Given the description of an element on the screen output the (x, y) to click on. 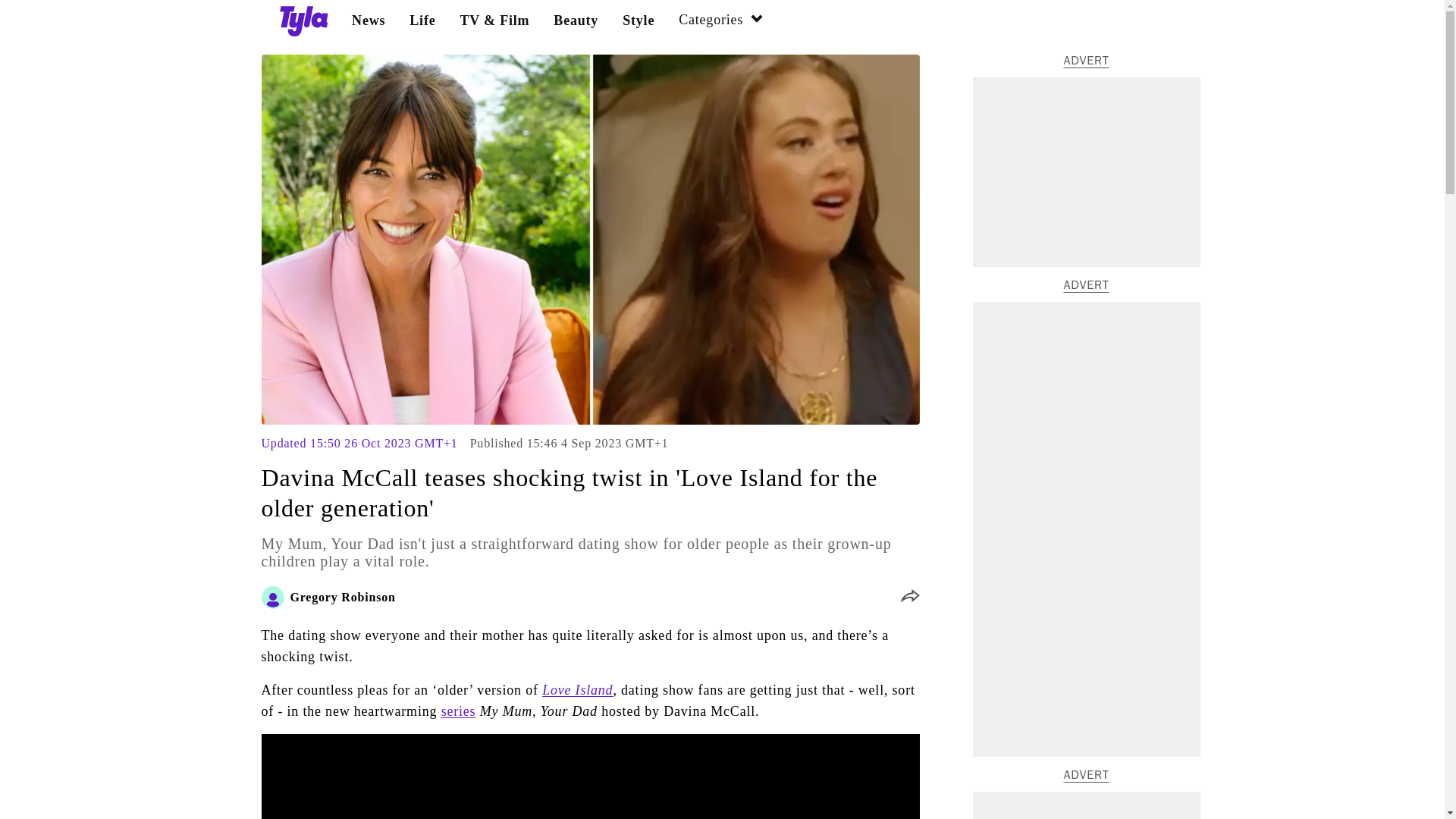
Beauty (575, 20)
Categories (721, 21)
